Given the description of an element on the screen output the (x, y) to click on. 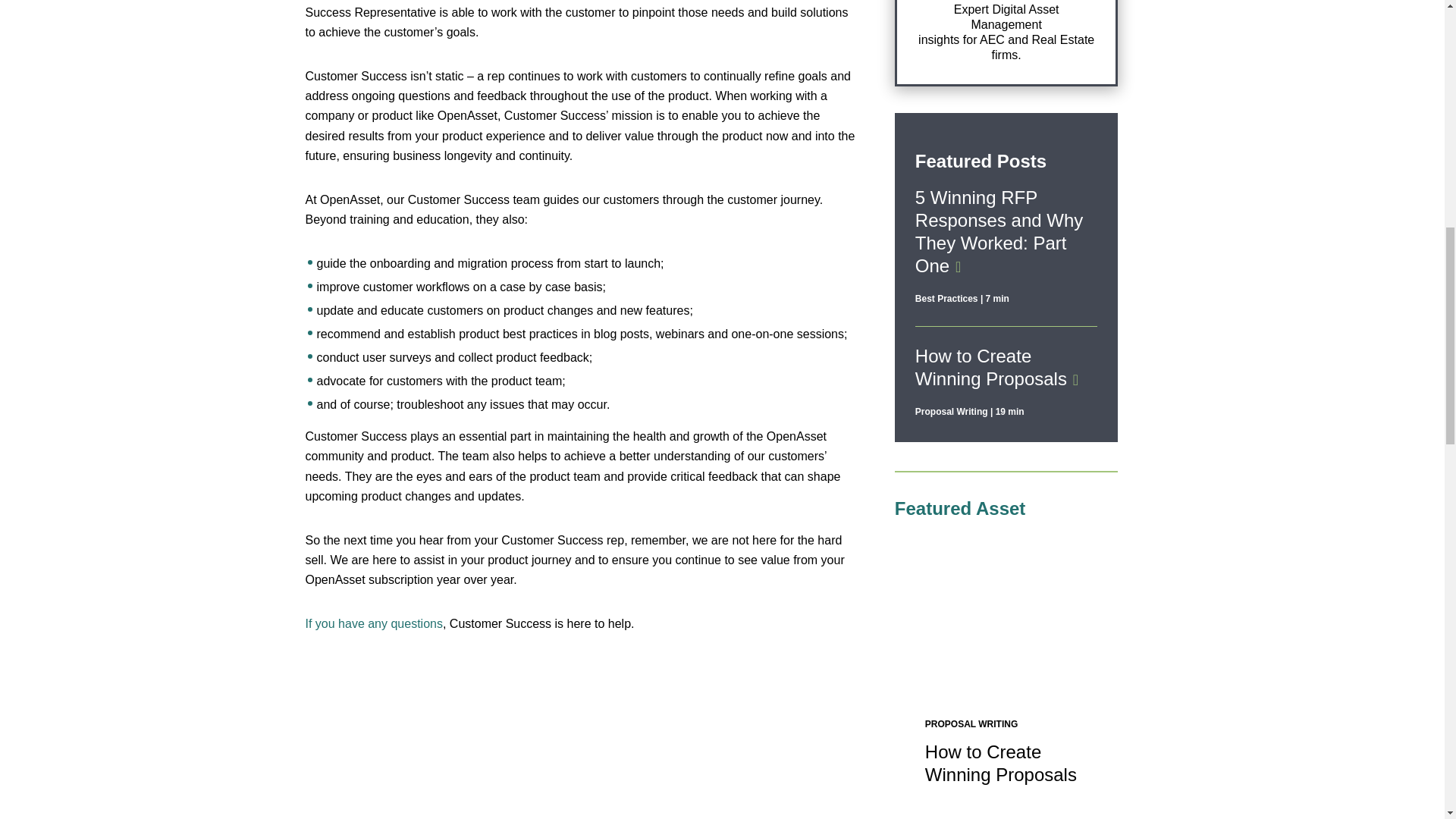
5 Winning RFP Responses and Why They Worked: Part One (999, 231)
If you have any questions (373, 623)
